Given the description of an element on the screen output the (x, y) to click on. 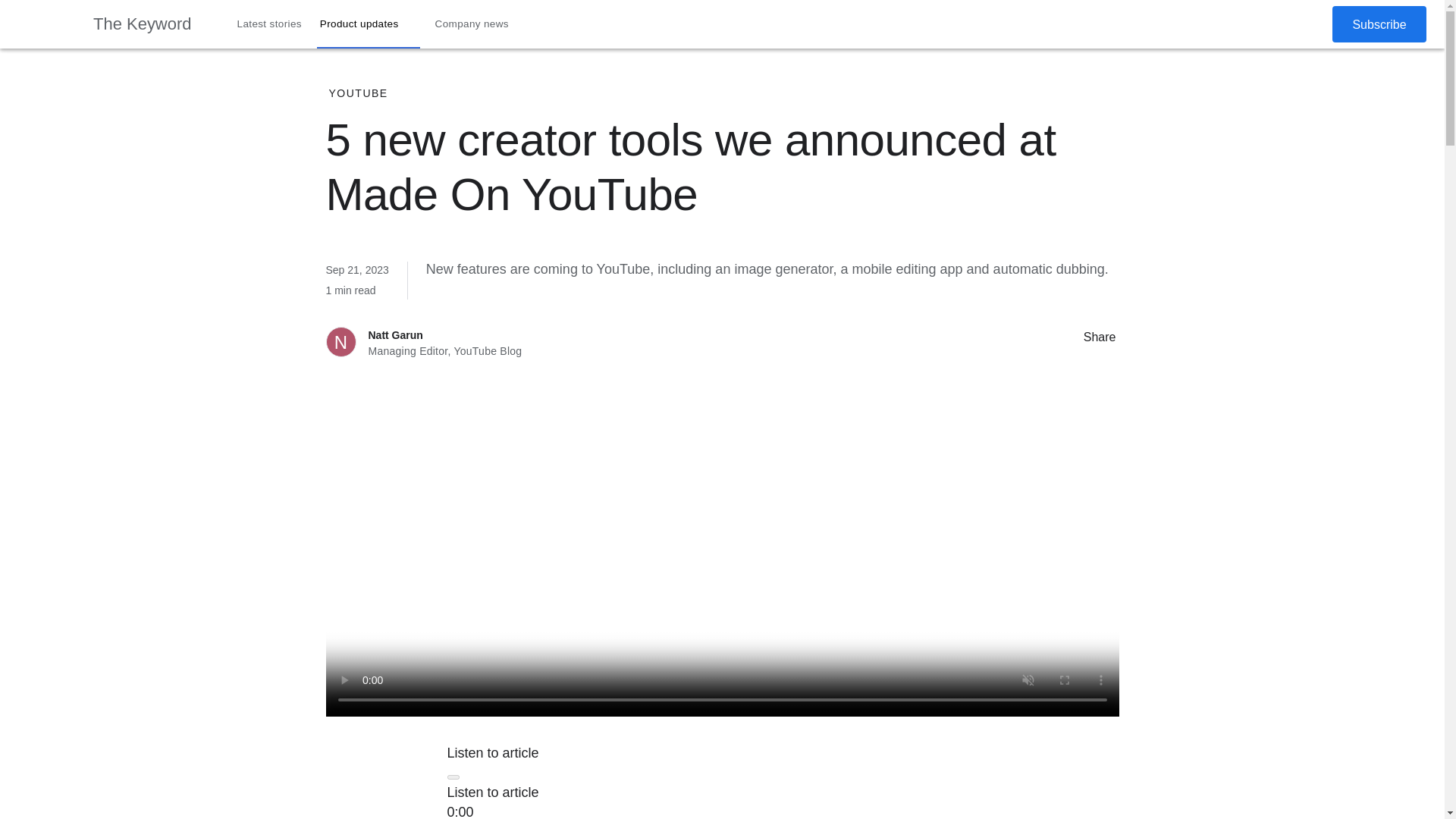
Latest stories (269, 24)
Product updates (368, 24)
Search (1274, 23)
The Keyword (142, 24)
Share (1068, 336)
Google (46, 24)
Secondary menu (1307, 23)
